Given the description of an element on the screen output the (x, y) to click on. 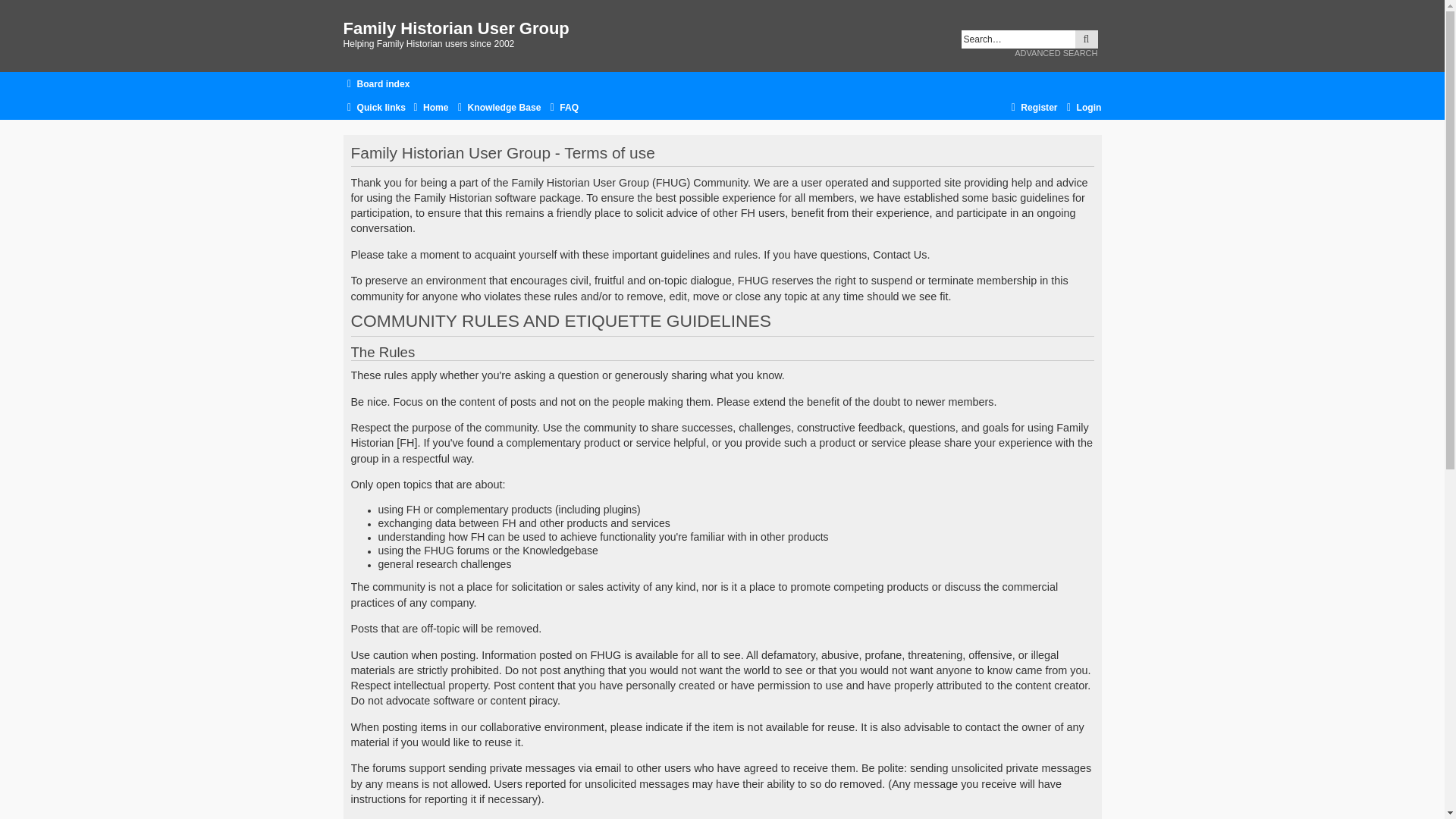
Board index (375, 84)
Advanced search (1055, 52)
Home (428, 107)
Register (1032, 107)
Knowledge Base (497, 107)
Quick links (374, 107)
Frequently Asked Questions (562, 107)
Login (1082, 107)
FAQ (562, 107)
Search (1086, 39)
Login (1082, 107)
Search for keywords (1017, 39)
Board index (375, 84)
ADVANCED SEARCH (1055, 52)
SEARCH (1086, 39)
